Given the description of an element on the screen output the (x, y) to click on. 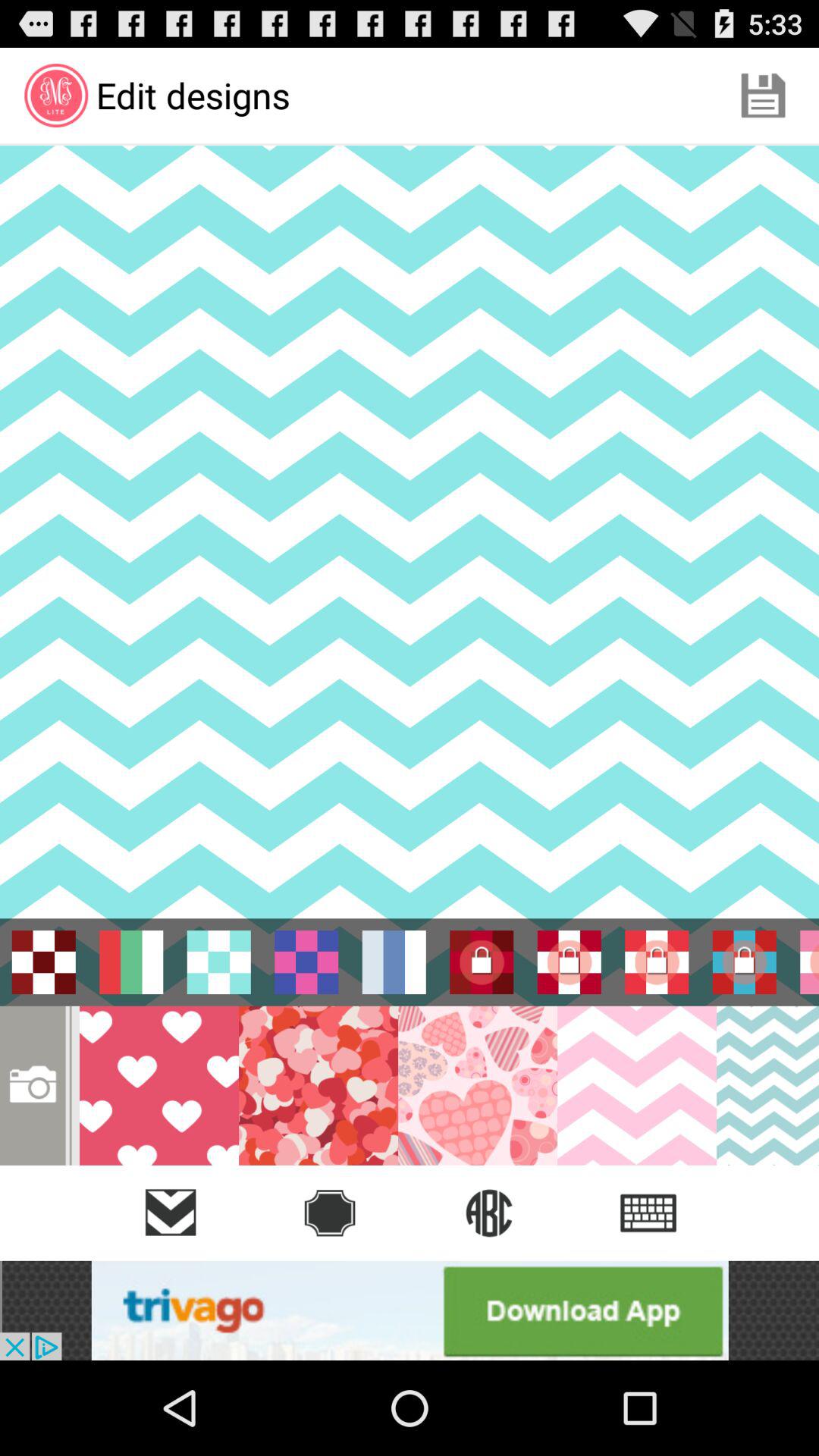
select the first image of the bottom left corner (159, 1086)
click on the symbol which is on the left side of abc symbol (329, 1213)
select the keyboard button (648, 1213)
click on abc symbol (488, 1213)
select the icon which is at the top right of the page (763, 95)
